Given the description of an element on the screen output the (x, y) to click on. 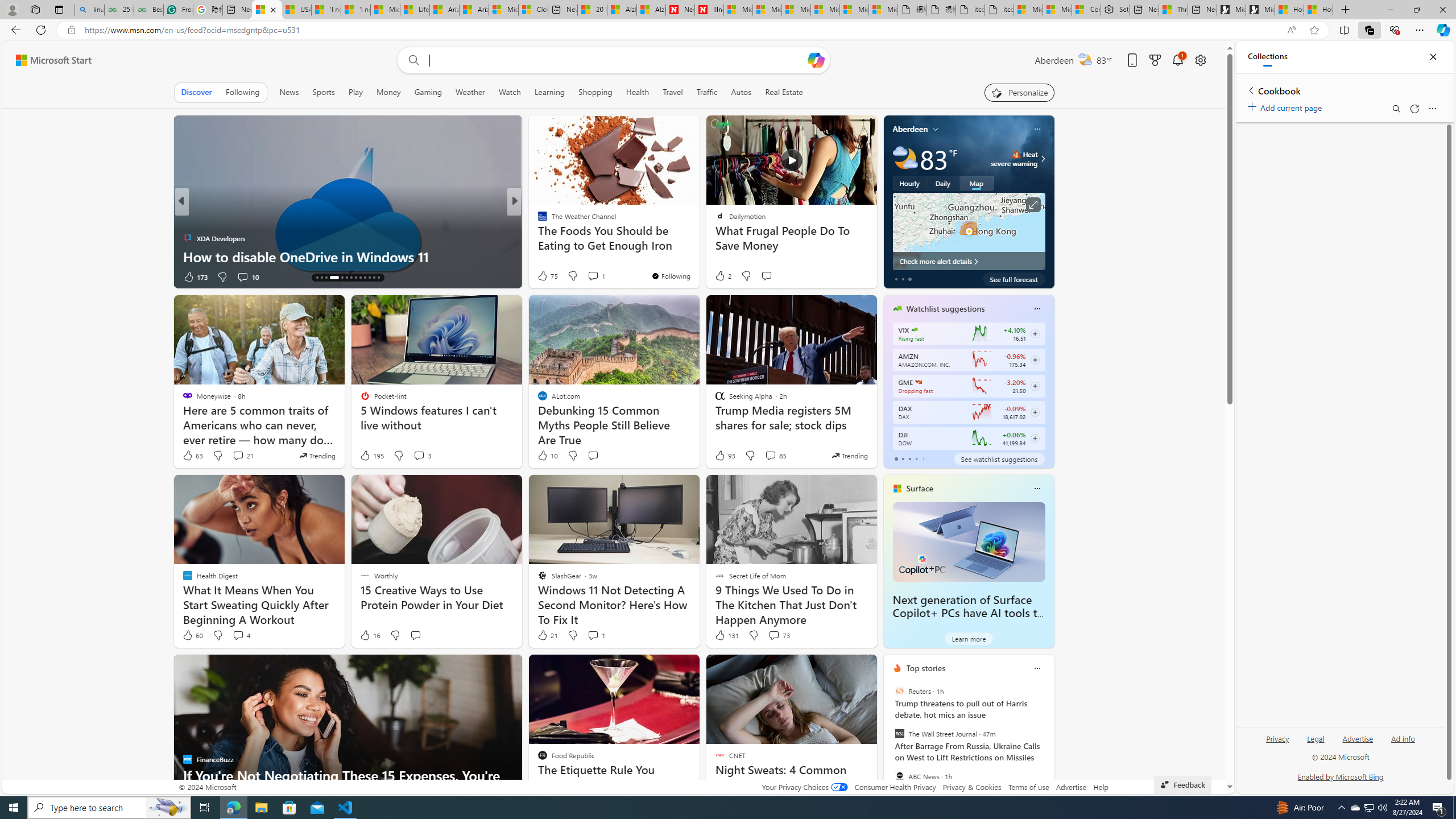
View comments 9 Comment (596, 276)
previous (888, 741)
Reuters (898, 691)
73 Like (543, 276)
CNBC (537, 219)
5k Like (543, 276)
275 Like (545, 276)
Learn more (967, 638)
